Given the description of an element on the screen output the (x, y) to click on. 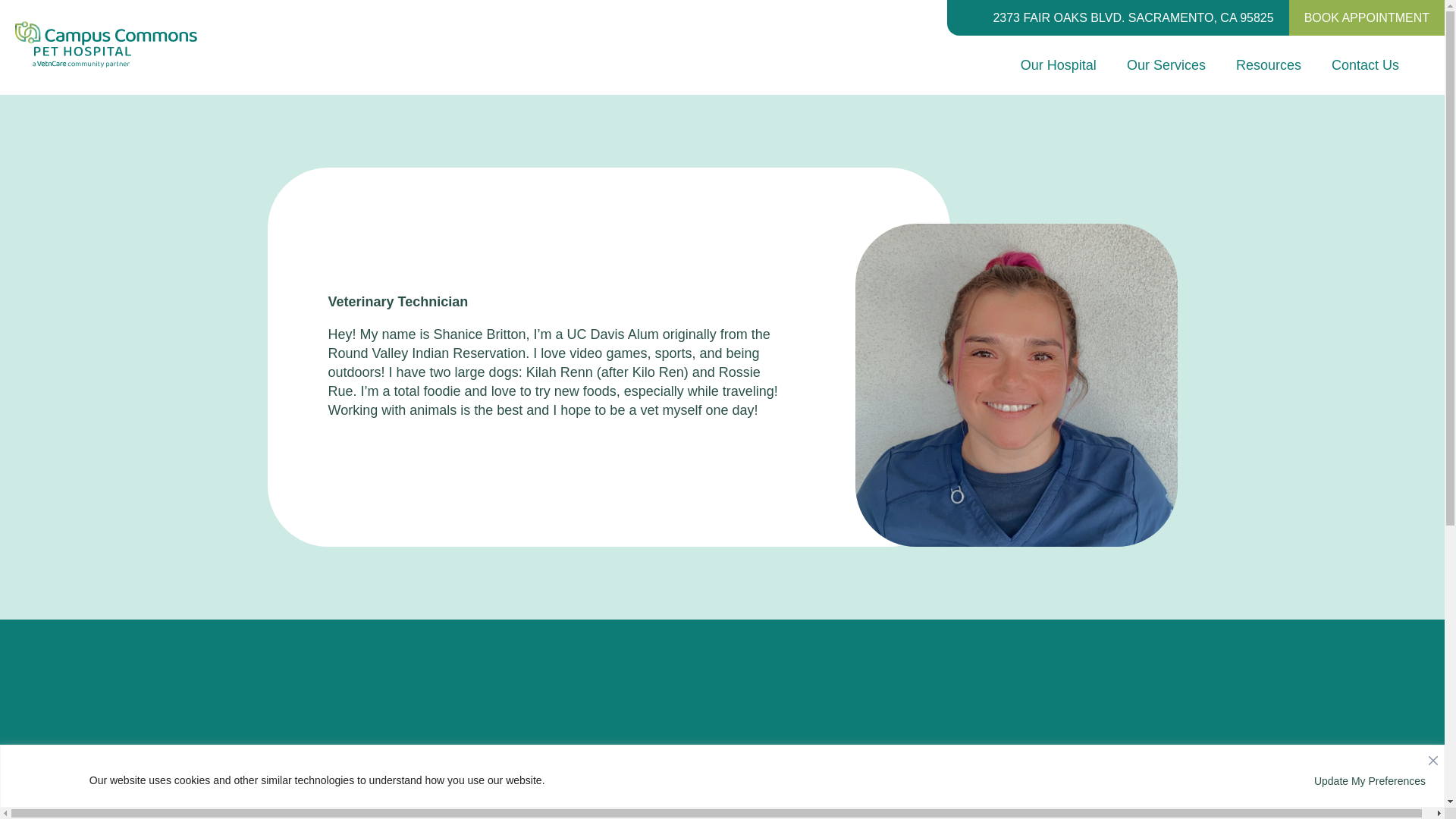
Contact Us (1365, 65)
BOOK APPOINTMENT (1366, 18)
Resources (1268, 65)
2373 FAIR OAKS BLVD. SACRAMENTO, CA 95825 (1132, 18)
Update My Preferences (1369, 780)
Our Hospital (1058, 65)
Search (21, 7)
Our Services (1165, 65)
